Given the description of an element on the screen output the (x, y) to click on. 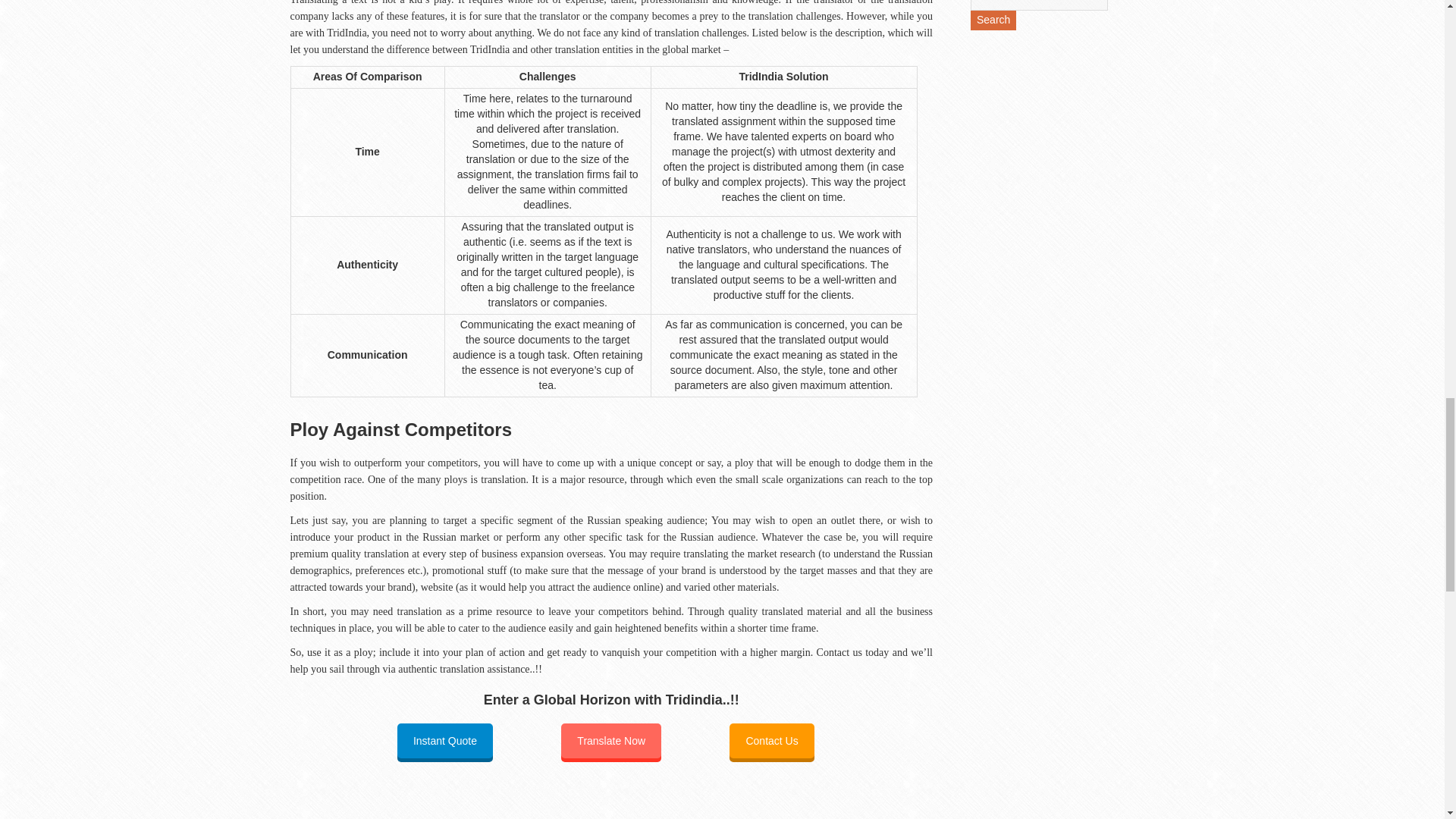
Search (993, 20)
